Given the description of an element on the screen output the (x, y) to click on. 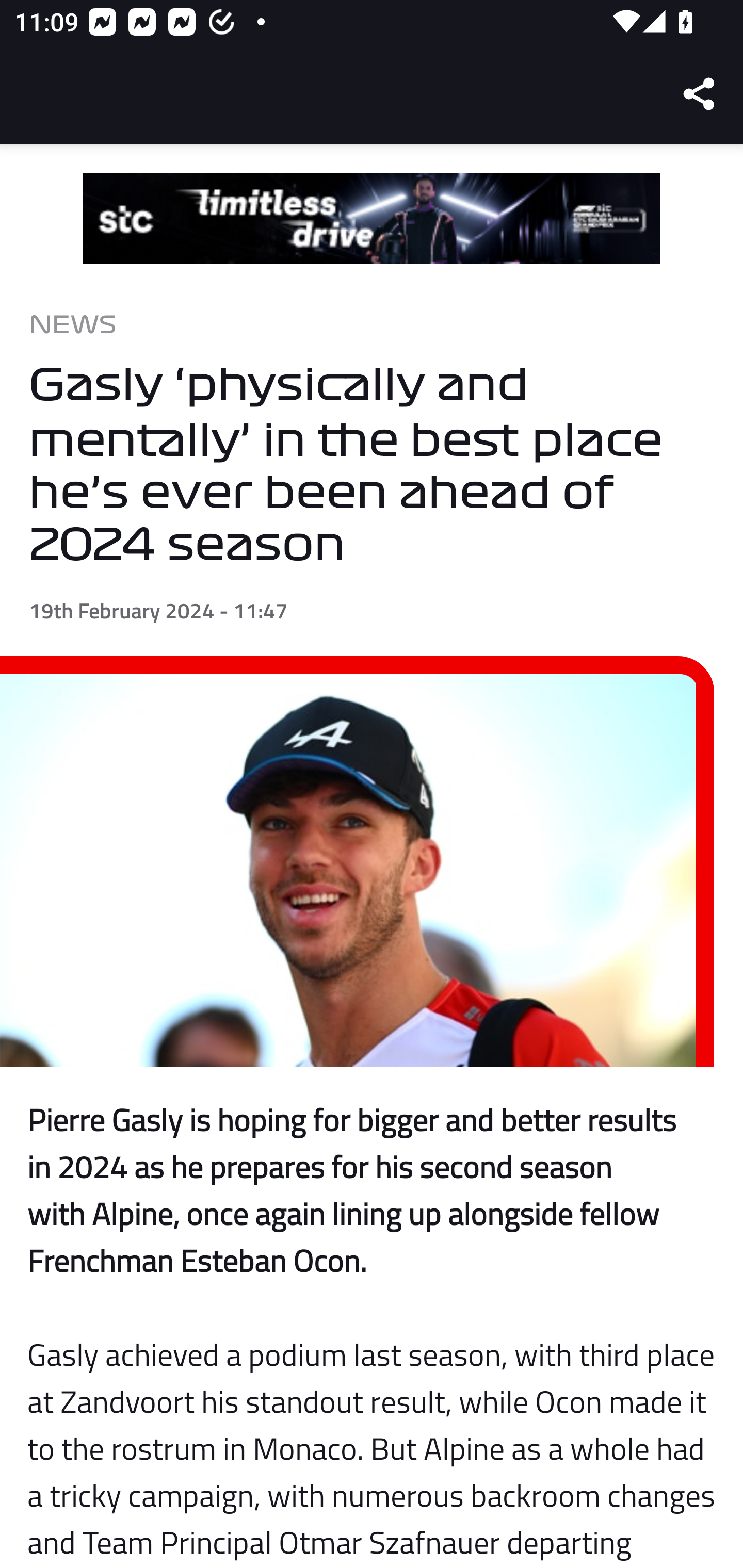
Share (699, 93)
who-we-are (371, 218)
